Given the description of an element on the screen output the (x, y) to click on. 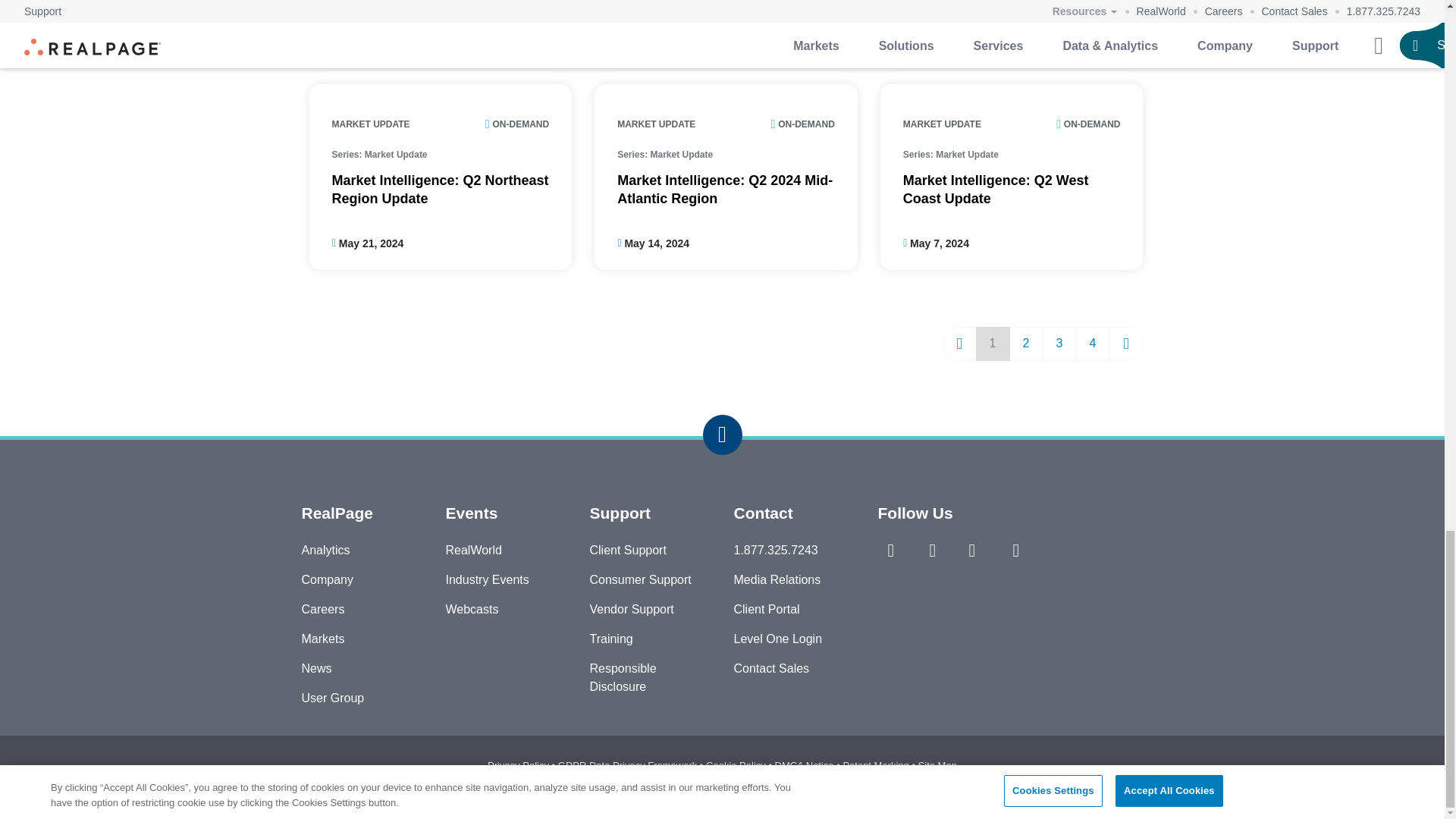
Back to top (721, 434)
